Given the description of an element on the screen output the (x, y) to click on. 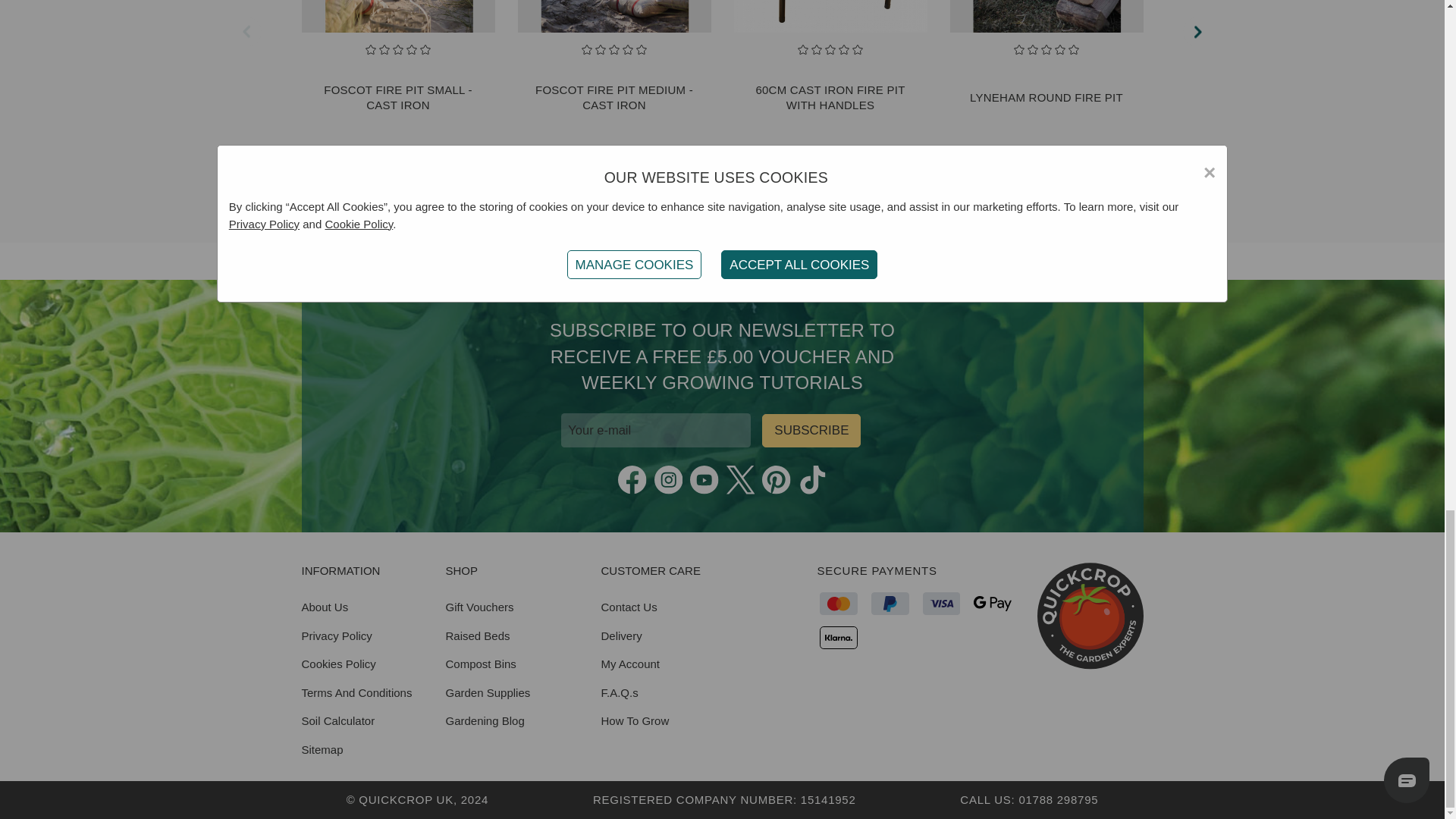
Foscot outdoor fire pit (398, 15)
Subscribe (810, 430)
facebook link (631, 480)
Foscot cast iron fire pit (613, 15)
Cast iron fire pit for outdoor parties (830, 15)
Lyneham round fire pit (1045, 15)
